Given the description of an element on the screen output the (x, y) to click on. 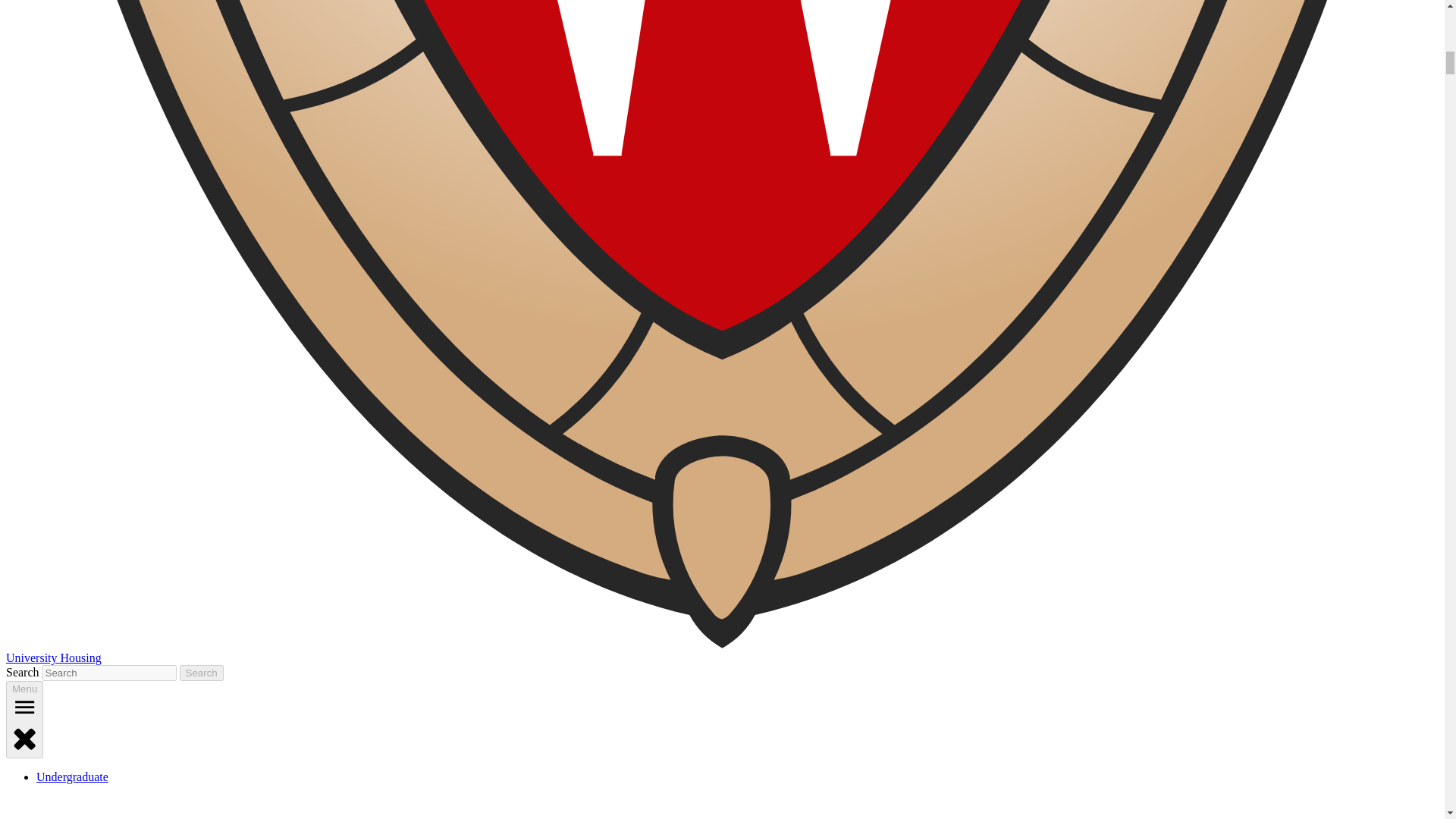
Search (201, 672)
University Housing (53, 657)
Search (201, 672)
open menu (24, 706)
Search (201, 672)
